Given the description of an element on the screen output the (x, y) to click on. 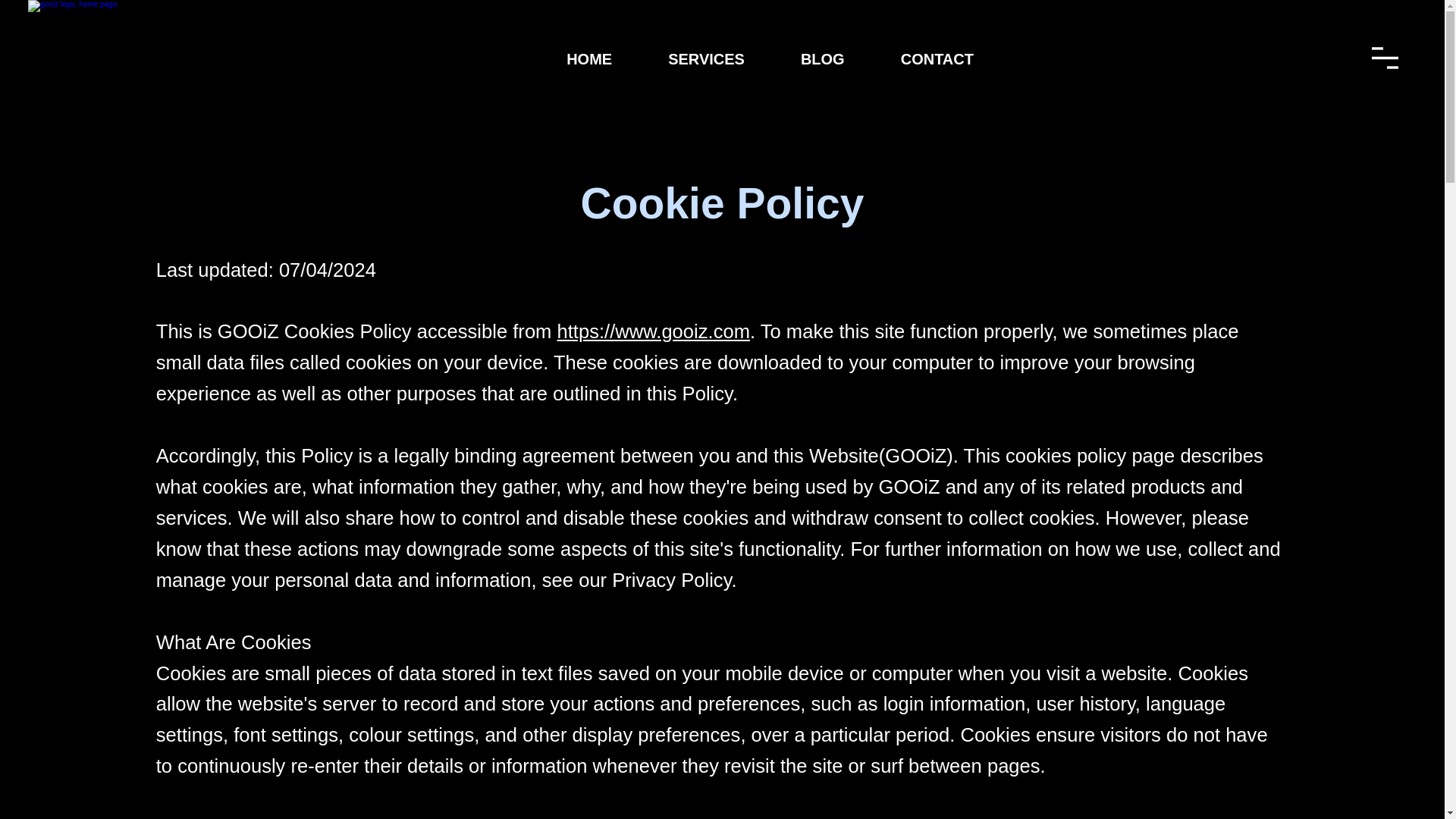
BLOG (822, 58)
HOME (588, 58)
CONTACT (936, 58)
